Given the description of an element on the screen output the (x, y) to click on. 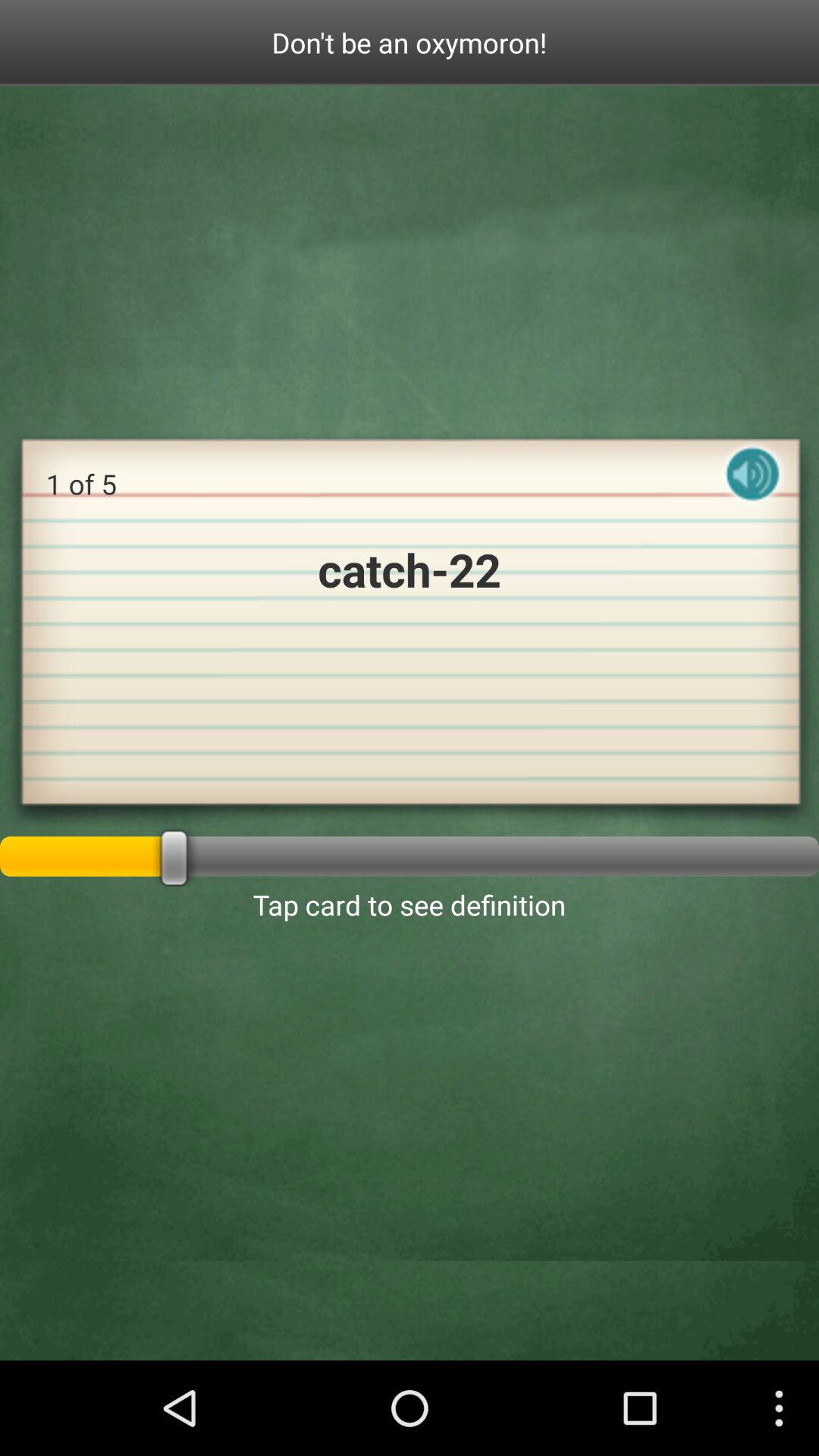
launch the item next to catch-22 icon (752, 486)
